Given the description of an element on the screen output the (x, y) to click on. 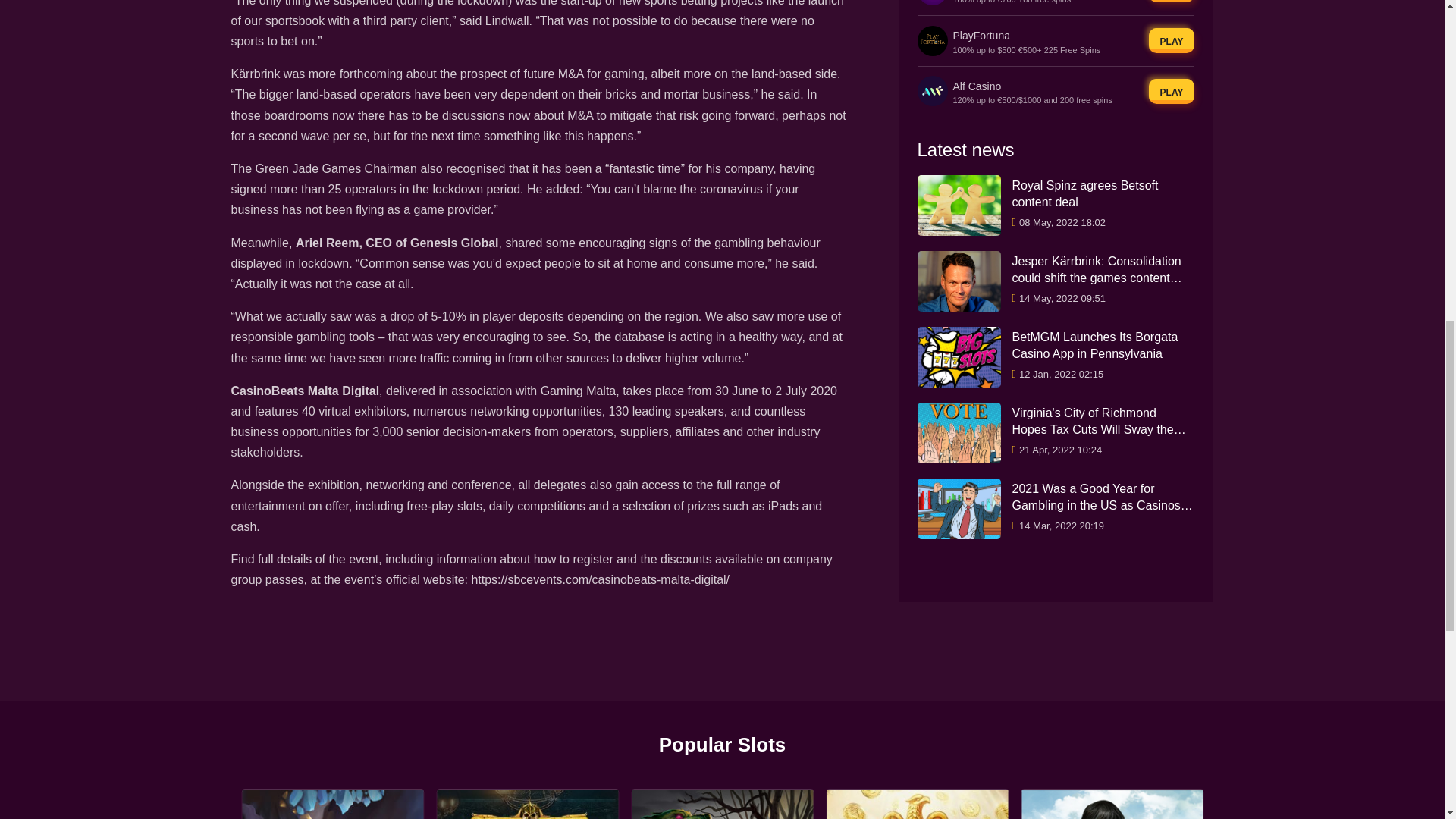
BetMGM Launches Its Borgata Casino App in Pennsylvania (1094, 77)
